Given the description of an element on the screen output the (x, y) to click on. 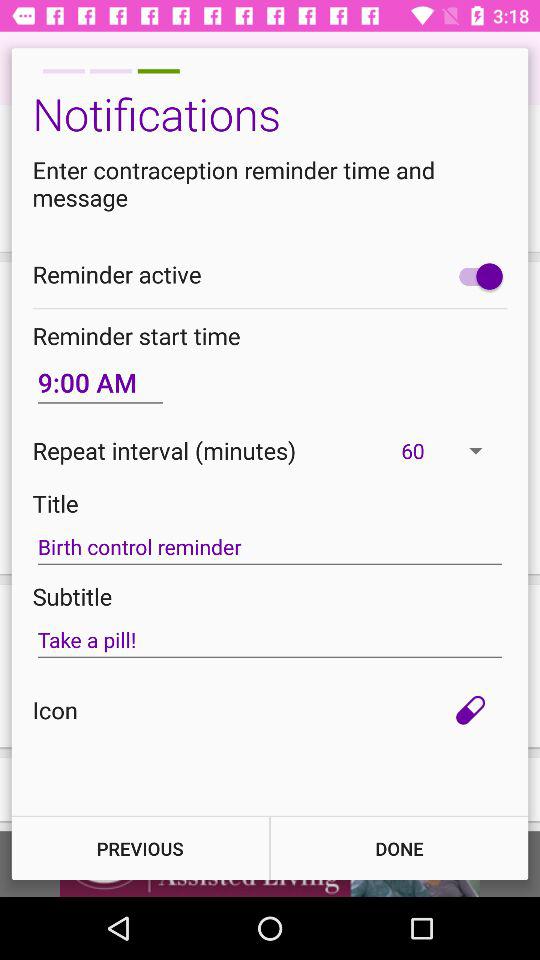
on/off (476, 275)
